Given the description of an element on the screen output the (x, y) to click on. 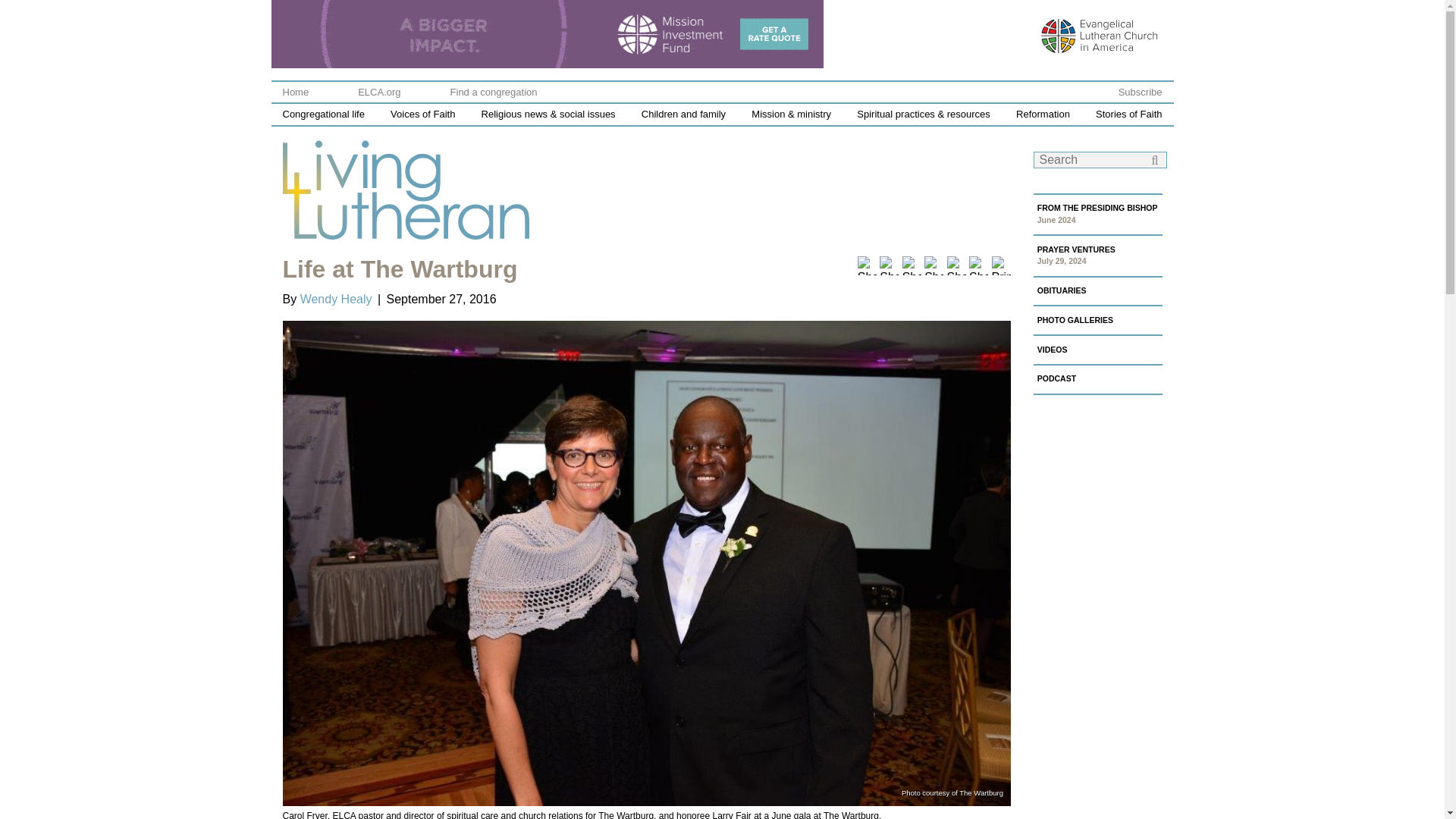
ELCA.org (379, 91)
Voices of Faith (421, 114)
Subscribe (1139, 91)
Children and family (683, 114)
Stories of Faith (1128, 114)
Reformation (1042, 114)
Search for: (1099, 159)
Find a congregation (493, 91)
Home (295, 91)
Congregational life (322, 114)
